Given the description of an element on the screen output the (x, y) to click on. 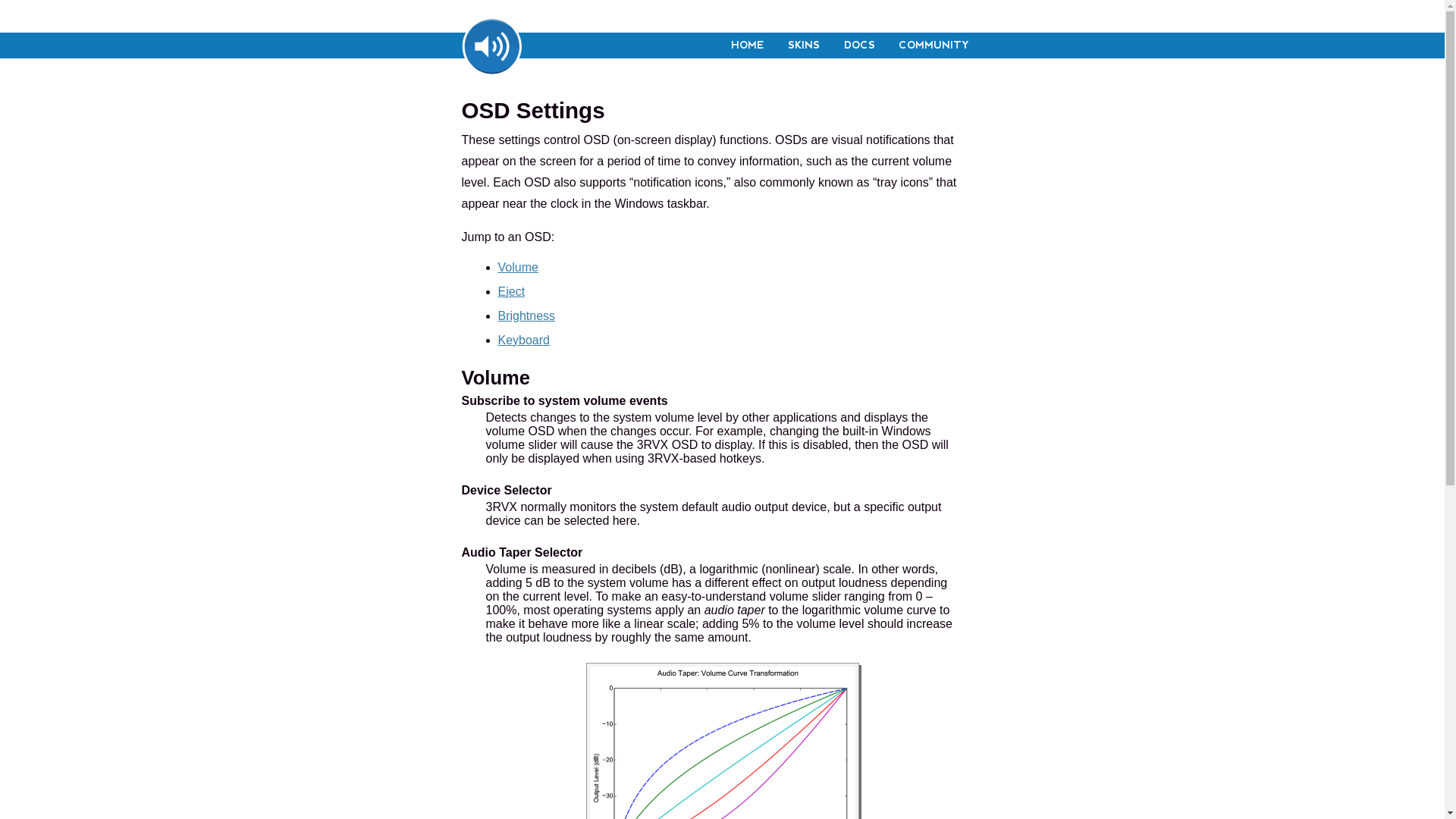
3RVX Element type: text (491, 45)
Keyboard Element type: text (523, 339)
COMMUNITY Element type: text (934, 45)
DOCS Element type: text (858, 45)
SKINS Element type: text (804, 45)
OSD Settings Element type: text (532, 109)
Eject Element type: text (510, 291)
Volume Element type: text (495, 377)
Volume Element type: text (517, 266)
HOME Element type: text (747, 45)
Brightness Element type: text (526, 315)
